Given the description of an element on the screen output the (x, y) to click on. 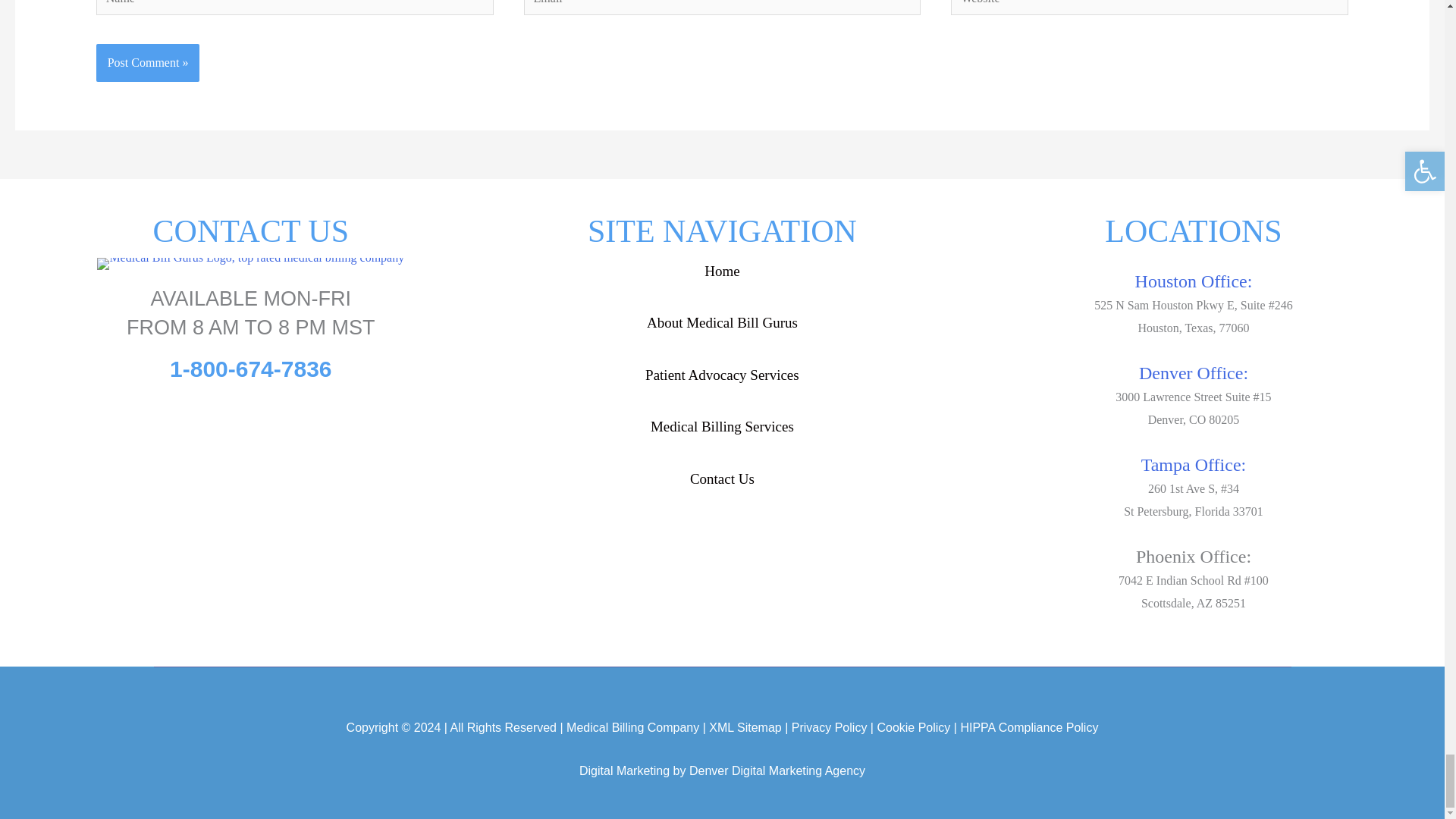
Medical Billing Company in Denver Colorado (250, 263)
